Given the description of an element on the screen output the (x, y) to click on. 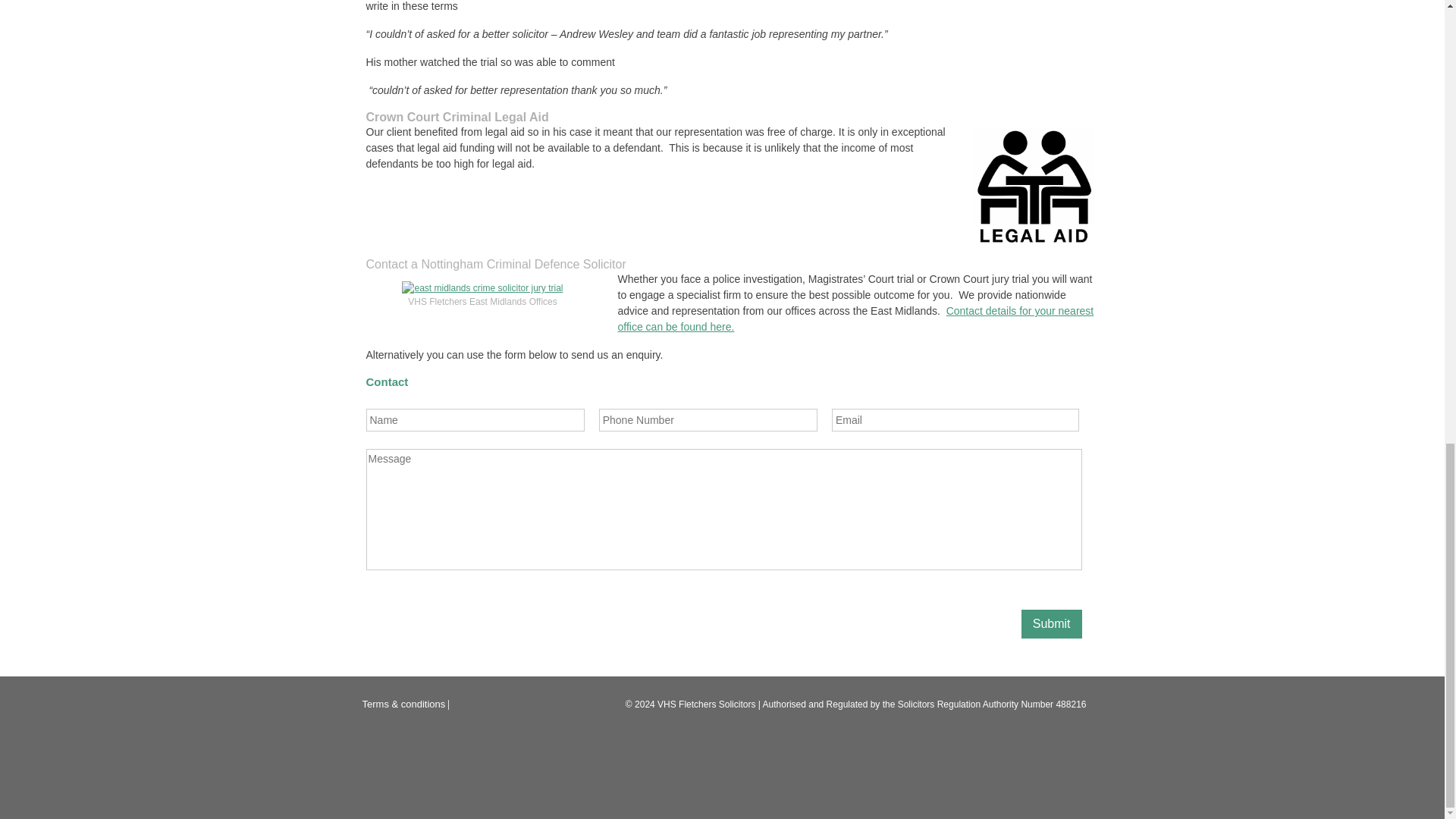
Submit (1051, 623)
Contact details for your nearest office can be found here. (855, 318)
Submit (1051, 623)
